Given the description of an element on the screen output the (x, y) to click on. 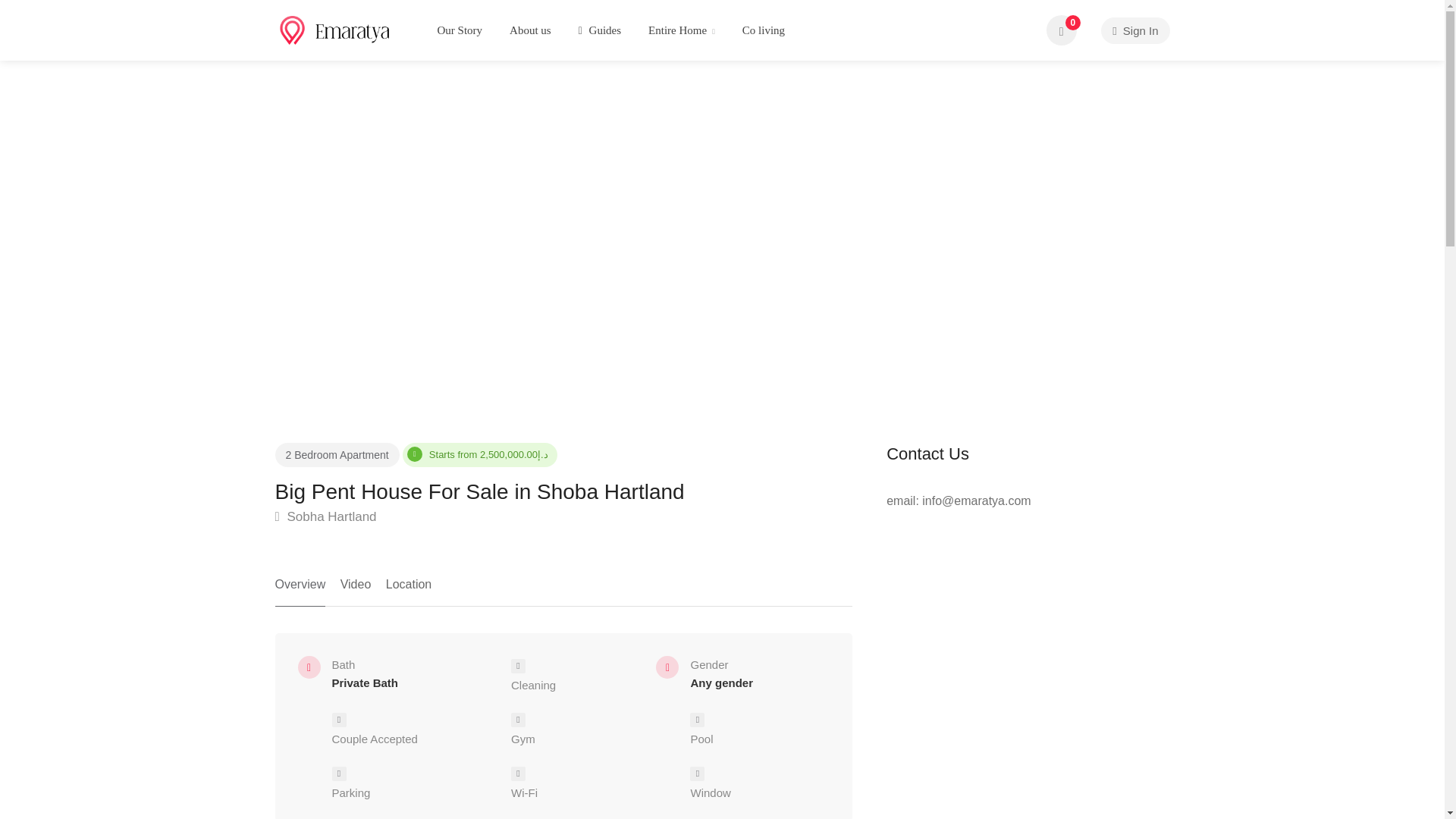
Entire Home (681, 30)
Sign In (1134, 30)
2 Bedroom Apartment (336, 454)
Our Story (460, 30)
Sobha Hartland (325, 516)
Emaratya (335, 29)
Video (355, 590)
Guides (599, 30)
Co living (763, 30)
About us (529, 30)
